Given the description of an element on the screen output the (x, y) to click on. 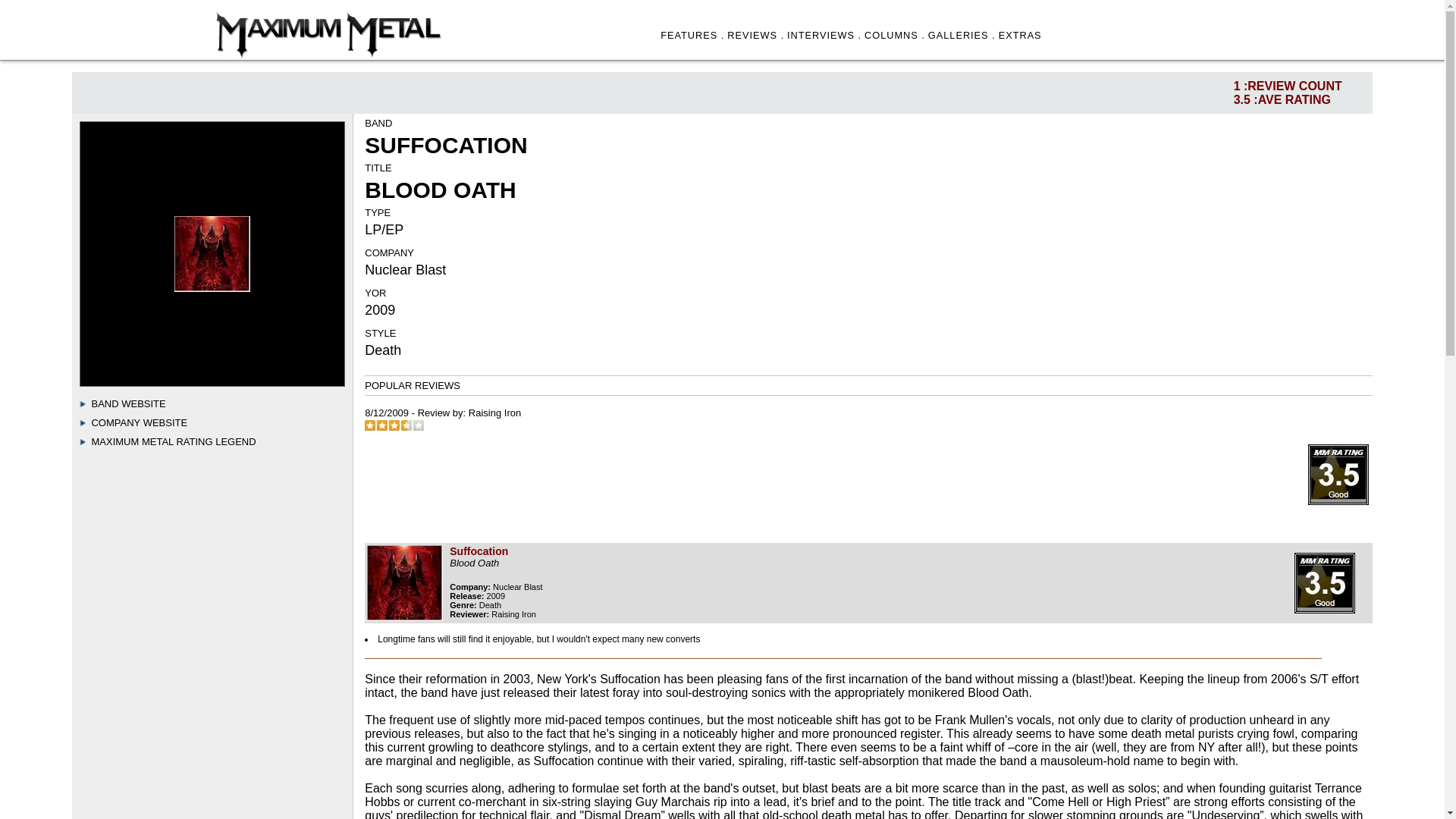
BAND WEBSITE (127, 403)
INTERVIEWS . (824, 34)
REVIEWS . (755, 34)
COLUMNS . (894, 34)
GALLERIES . (961, 34)
Raising Iron (494, 412)
FEATURES . (692, 34)
EXTRAS (1020, 34)
COMPANY WEBSITE (138, 422)
